Given the description of an element on the screen output the (x, y) to click on. 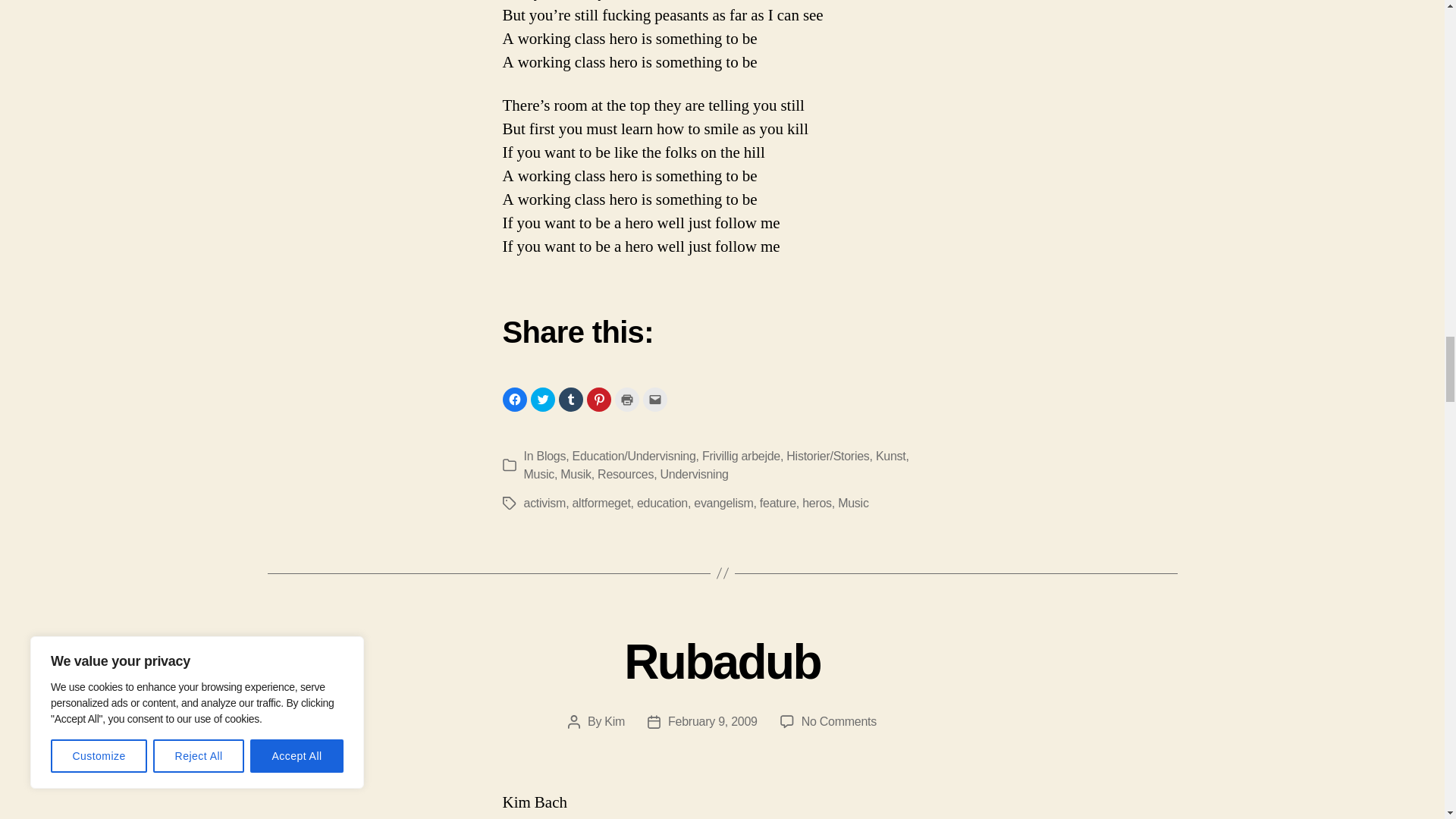
Click to share on Facebook (513, 399)
Click to email this to a friend (654, 399)
Click to share on Twitter (542, 399)
Click to print (626, 399)
Click to share on Tumblr (569, 399)
Click to share on Pinterest (598, 399)
